Given the description of an element on the screen output the (x, y) to click on. 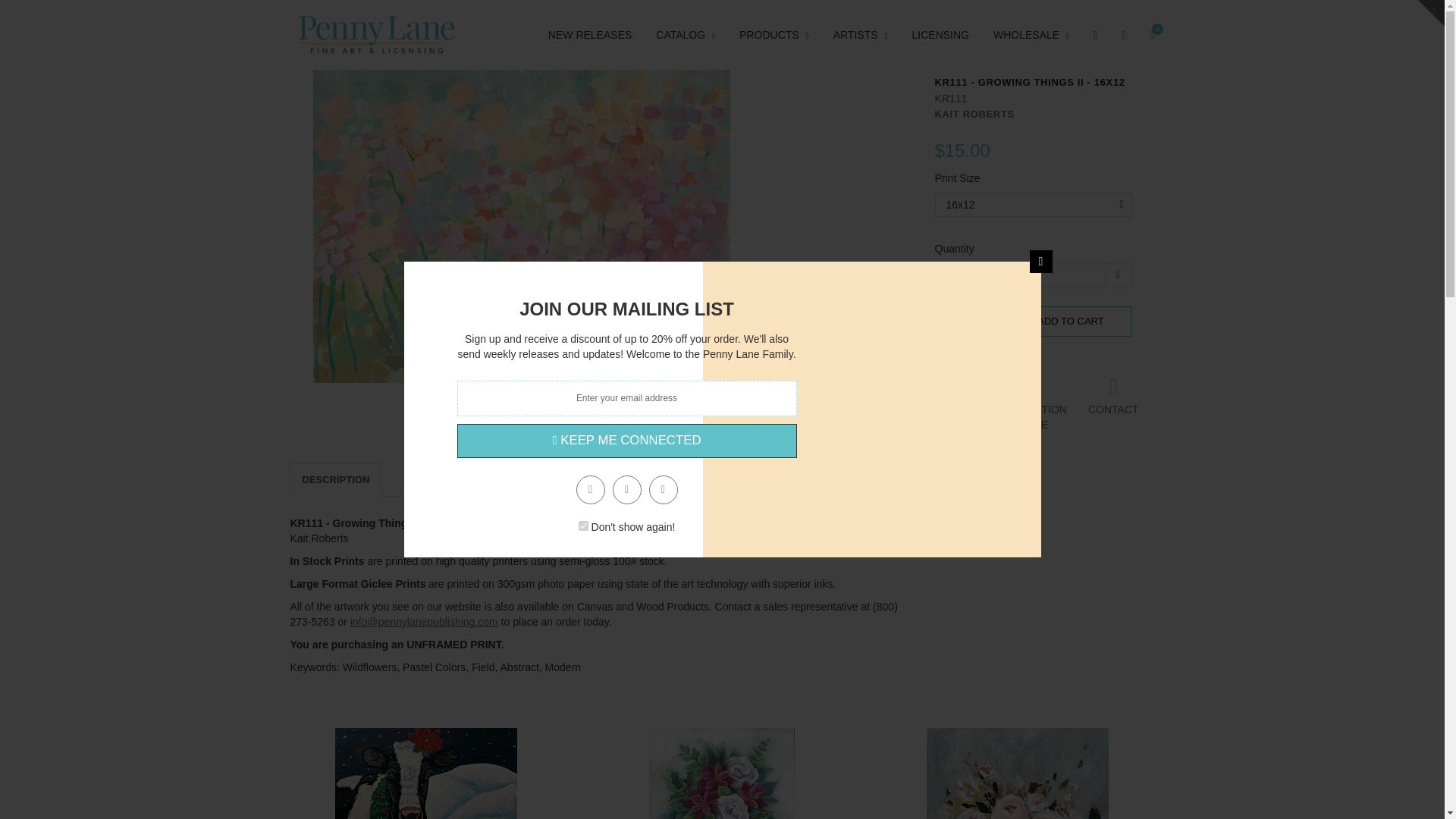
1 (583, 525)
1 (1031, 274)
Kait Roberts (973, 113)
